Given the description of an element on the screen output the (x, y) to click on. 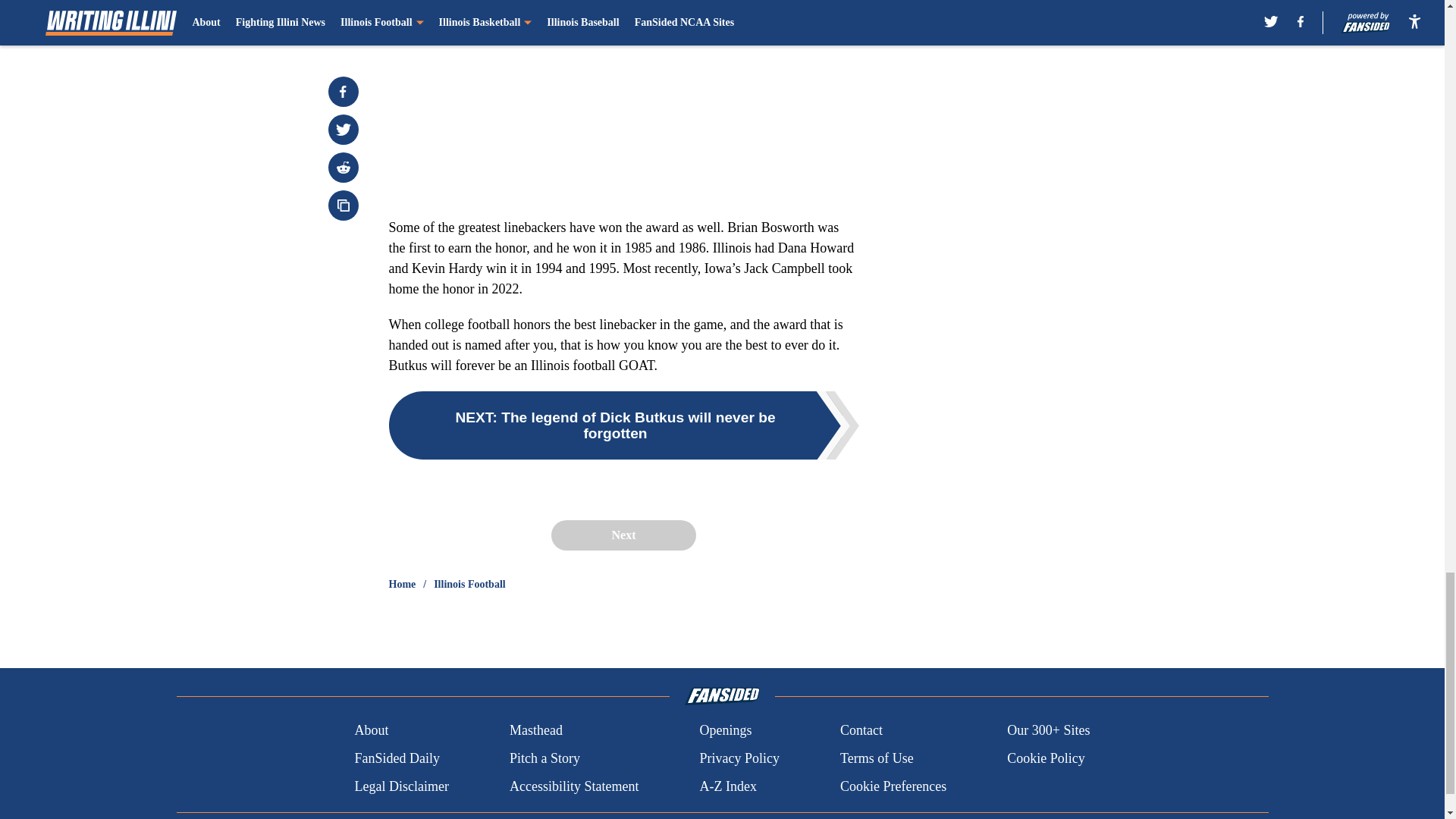
Openings (724, 730)
NEXT: The legend of Dick Butkus will never be forgotten (623, 425)
Contact (861, 730)
FanSided Daily (396, 758)
About (370, 730)
Pitch a Story (544, 758)
Next (622, 535)
Home (401, 584)
Masthead (535, 730)
Illinois Football (469, 584)
